Given the description of an element on the screen output the (x, y) to click on. 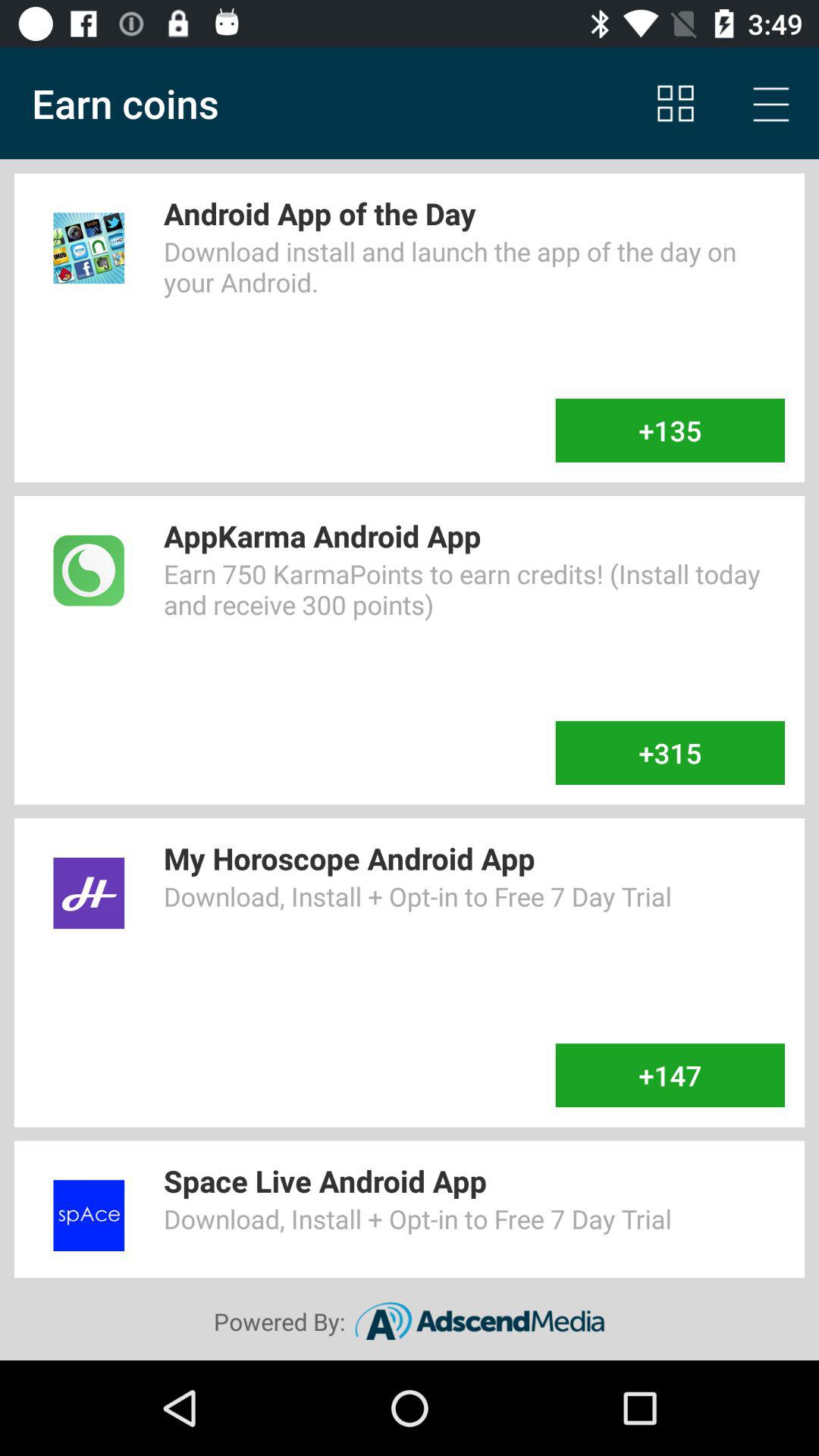
turn off item below the earn 750 karmapoints (669, 752)
